Given the description of an element on the screen output the (x, y) to click on. 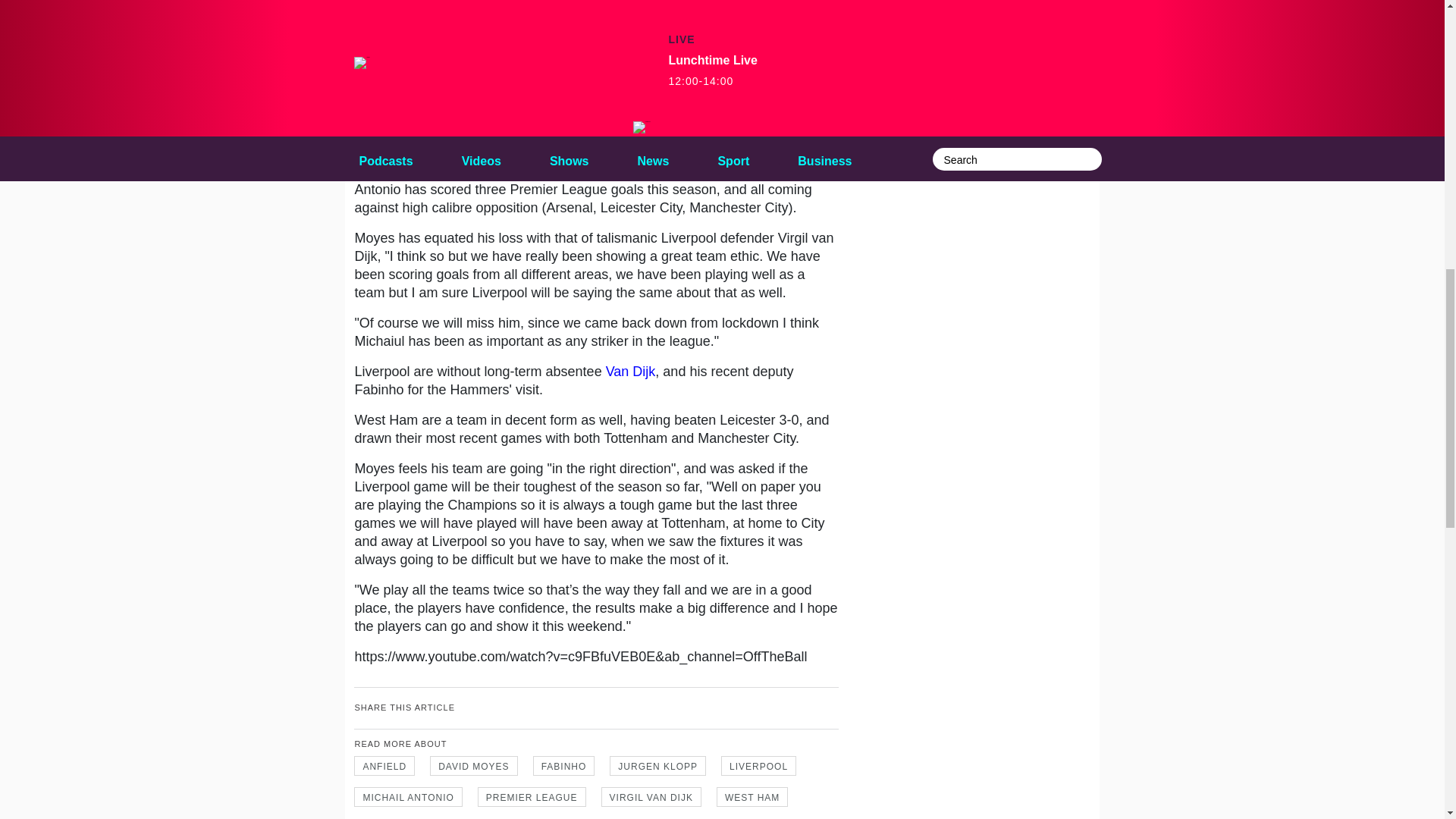
DAVID MOYES (472, 765)
WEST HAM (751, 796)
PREMIER LEAGUE (531, 796)
VIRGIL VAN DIJK (651, 796)
JURGEN KLOPP (658, 765)
MICHAIL ANTONIO (407, 796)
FABINHO (563, 765)
Van Dijk (630, 371)
ANFIELD (383, 765)
LIVERPOOL (758, 765)
